Given the description of an element on the screen output the (x, y) to click on. 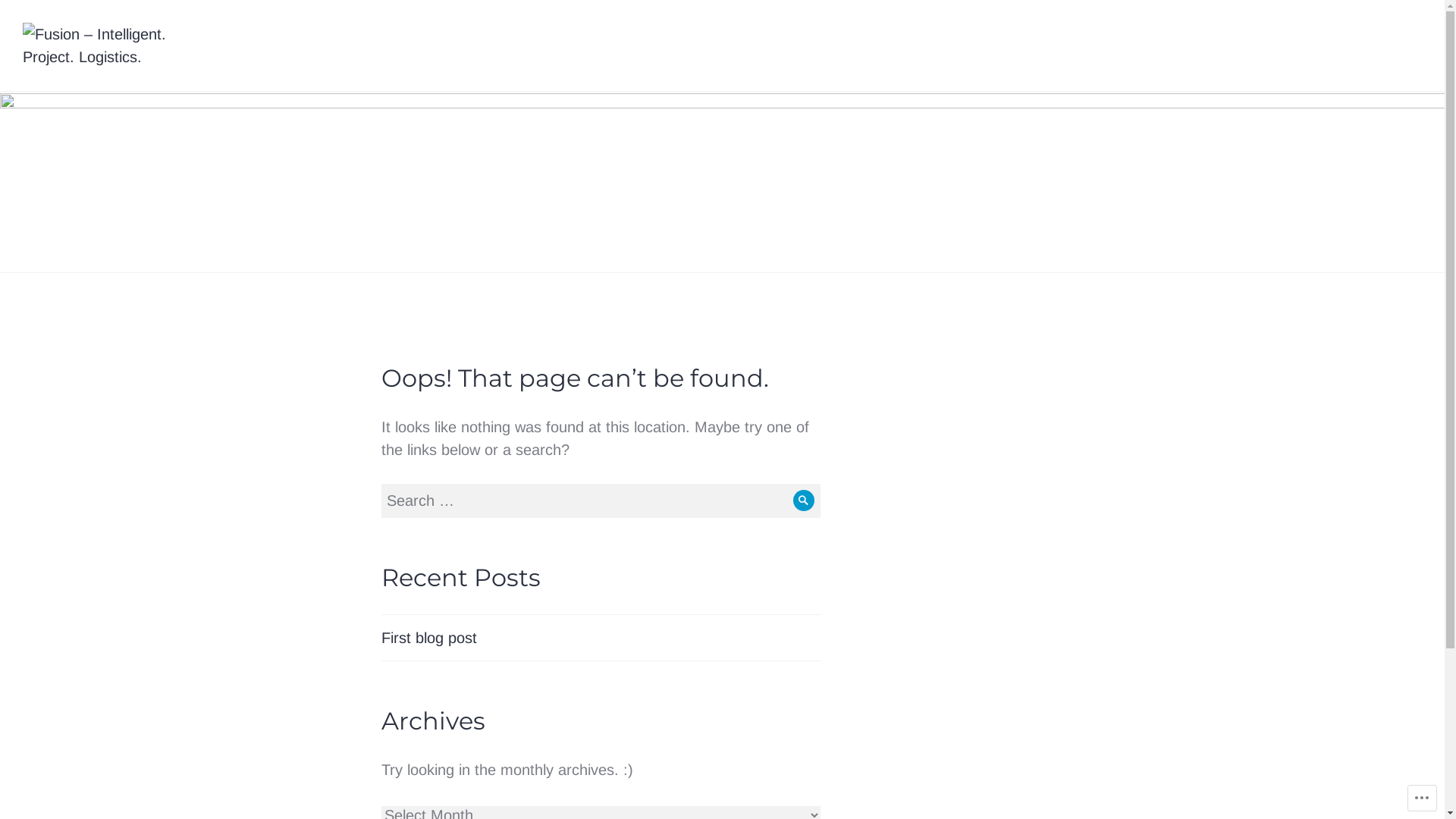
Search for: Element type: hover (600, 500)
First blog post Element type: text (428, 637)
